Given the description of an element on the screen output the (x, y) to click on. 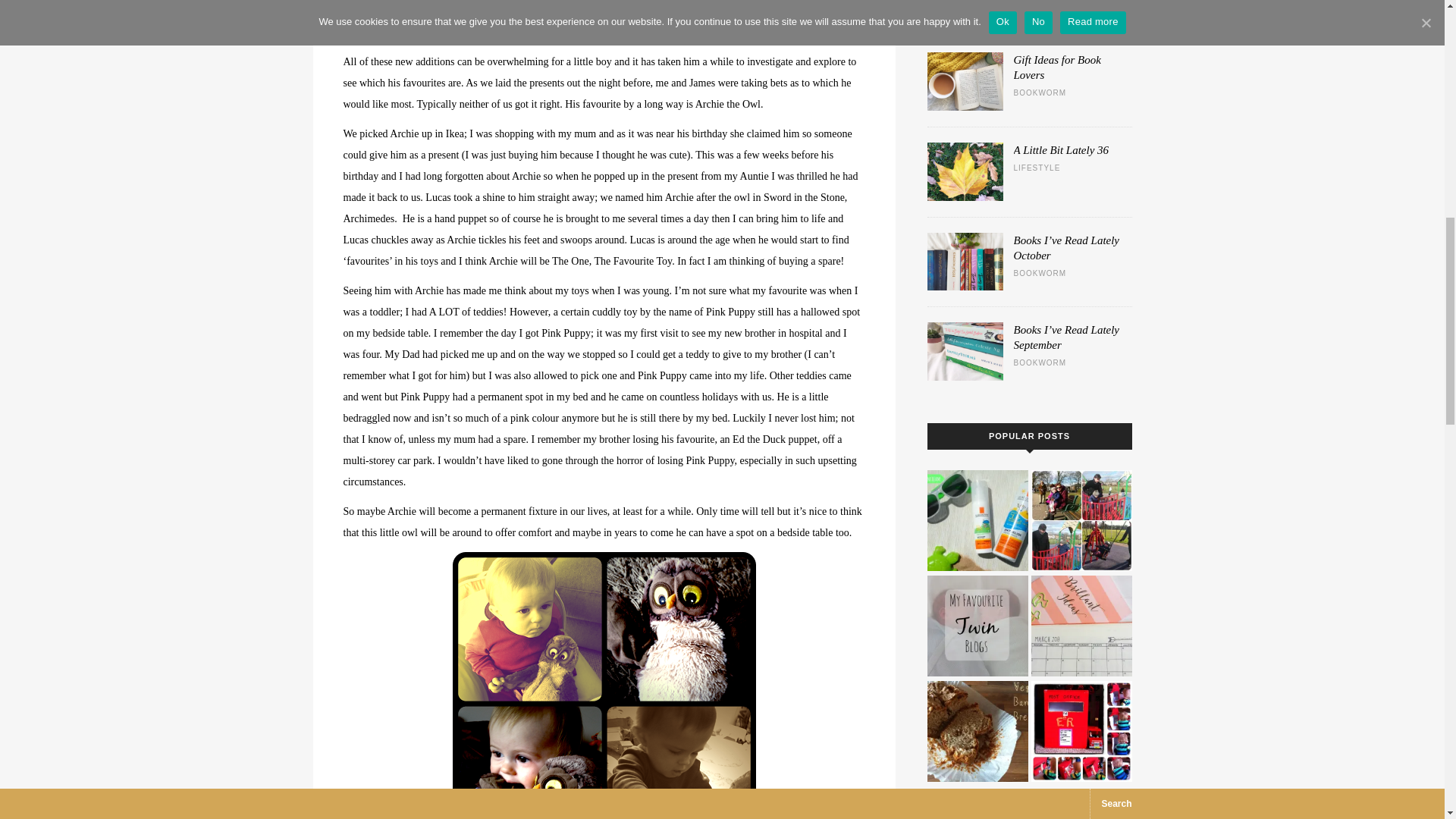
Simple Monthly Setup in the Bullet Journal (1081, 626)
Exploring a New Playground - Victoria Park (1081, 521)
Twin Blog Love (976, 626)
La Roche-Posay Anthelios dermo-kids - Sun Cream (976, 521)
Making A Postbox - Toddler Craft (1081, 731)
